Given the description of an element on the screen output the (x, y) to click on. 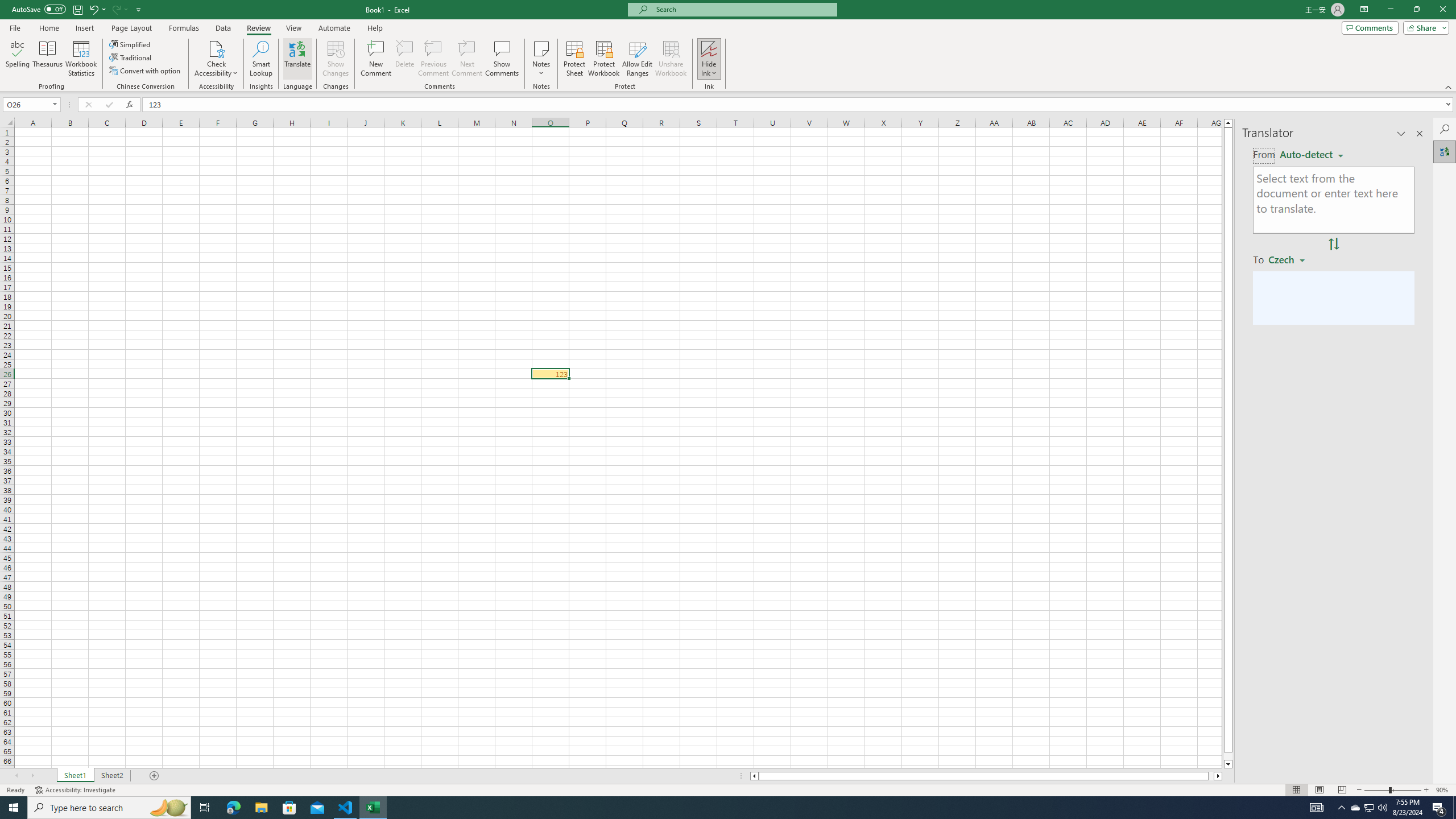
Next Comment (466, 58)
Spelling... (17, 58)
